Given the description of an element on the screen output the (x, y) to click on. 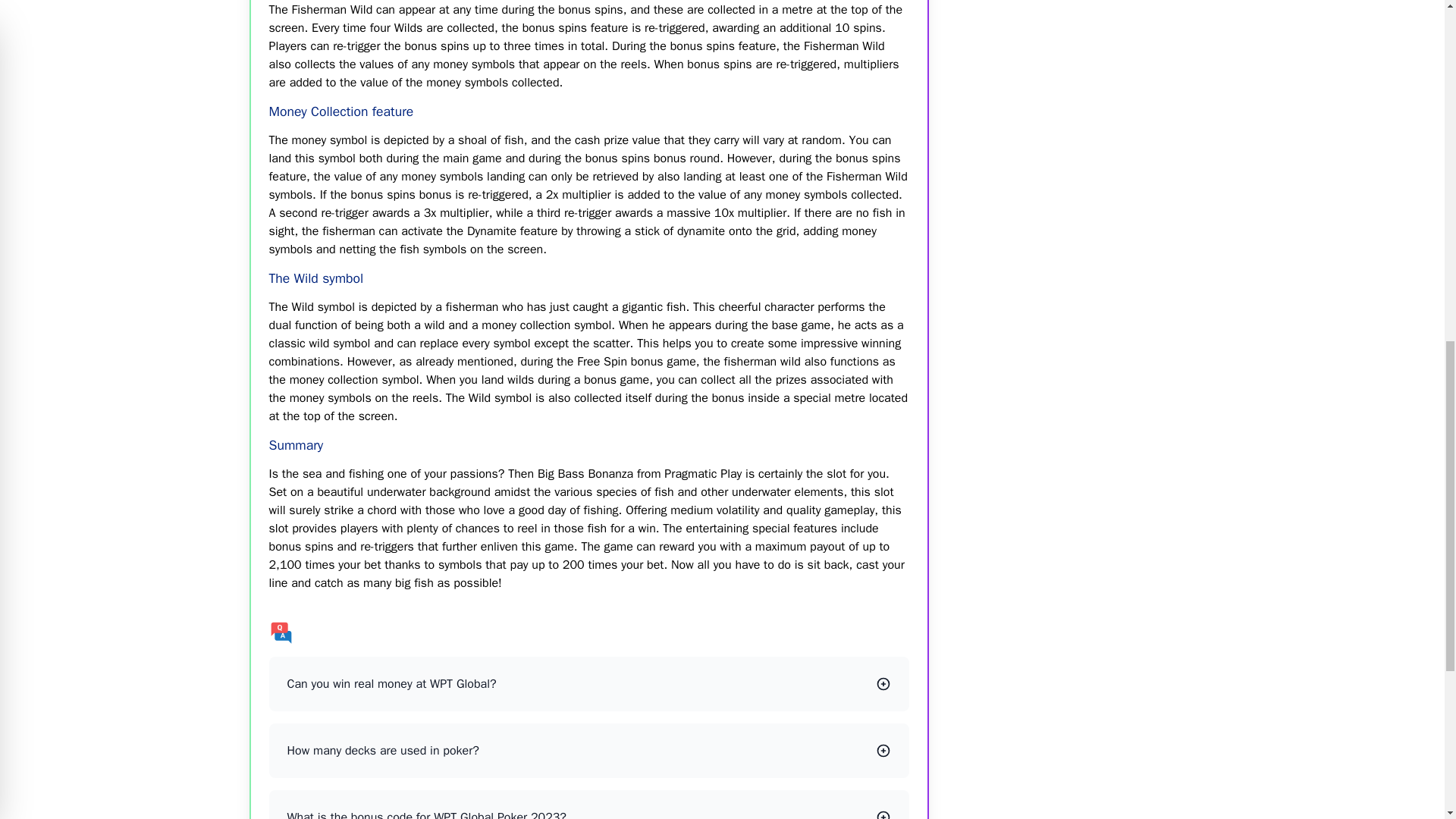
FAQs list (587, 631)
